Given the description of an element on the screen output the (x, y) to click on. 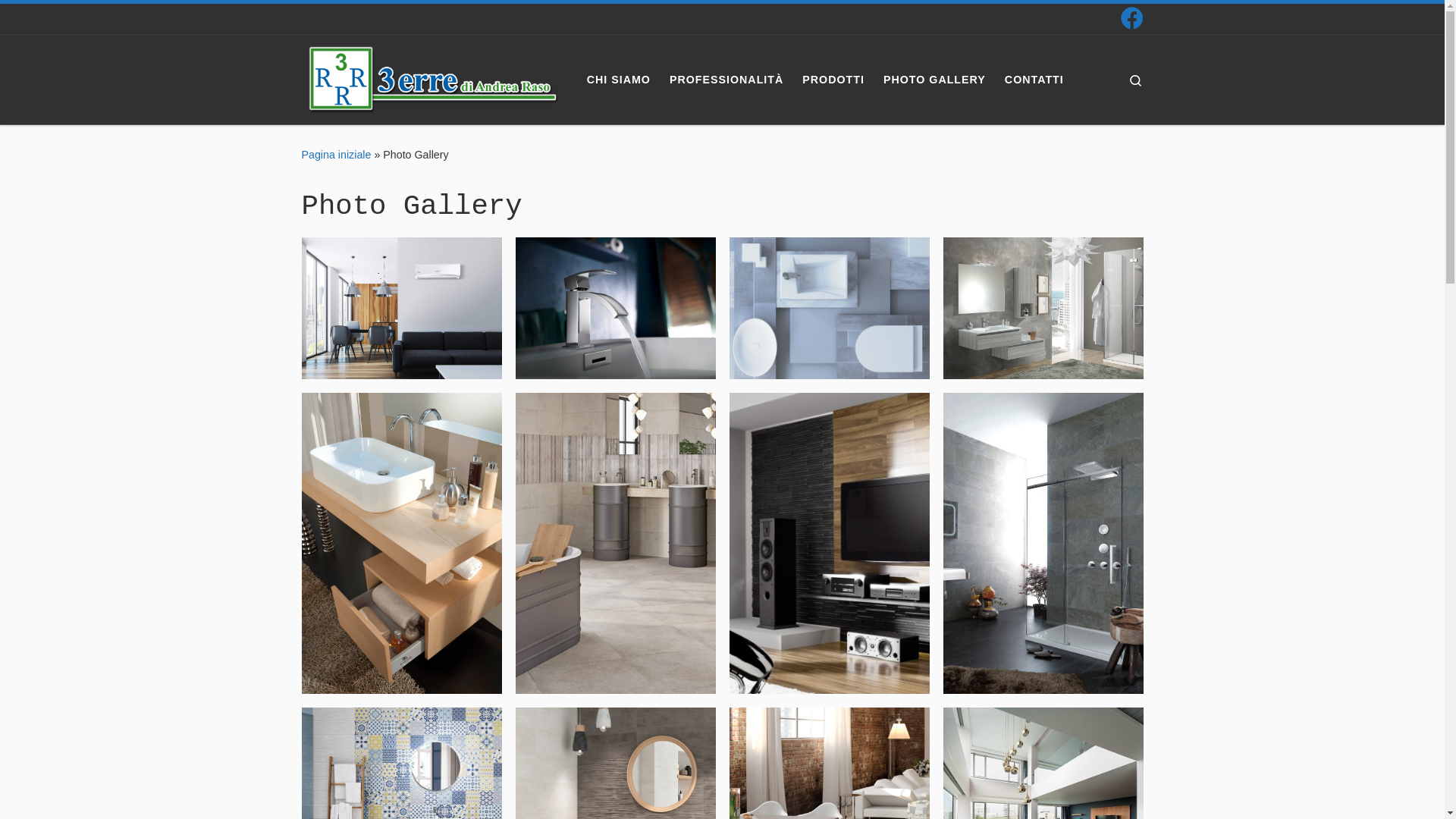
PHOTO GALLERY Element type: text (934, 79)
Search Element type: text (1135, 79)
CHI SIAMO Element type: text (618, 79)
Pagina iniziale Element type: text (336, 154)
PRODOTTI Element type: text (833, 79)
Cercaci su Facebook Element type: hover (1131, 17)
Passa al contenuto Element type: text (72, 20)
CONTATTI Element type: text (1034, 79)
